Given the description of an element on the screen output the (x, y) to click on. 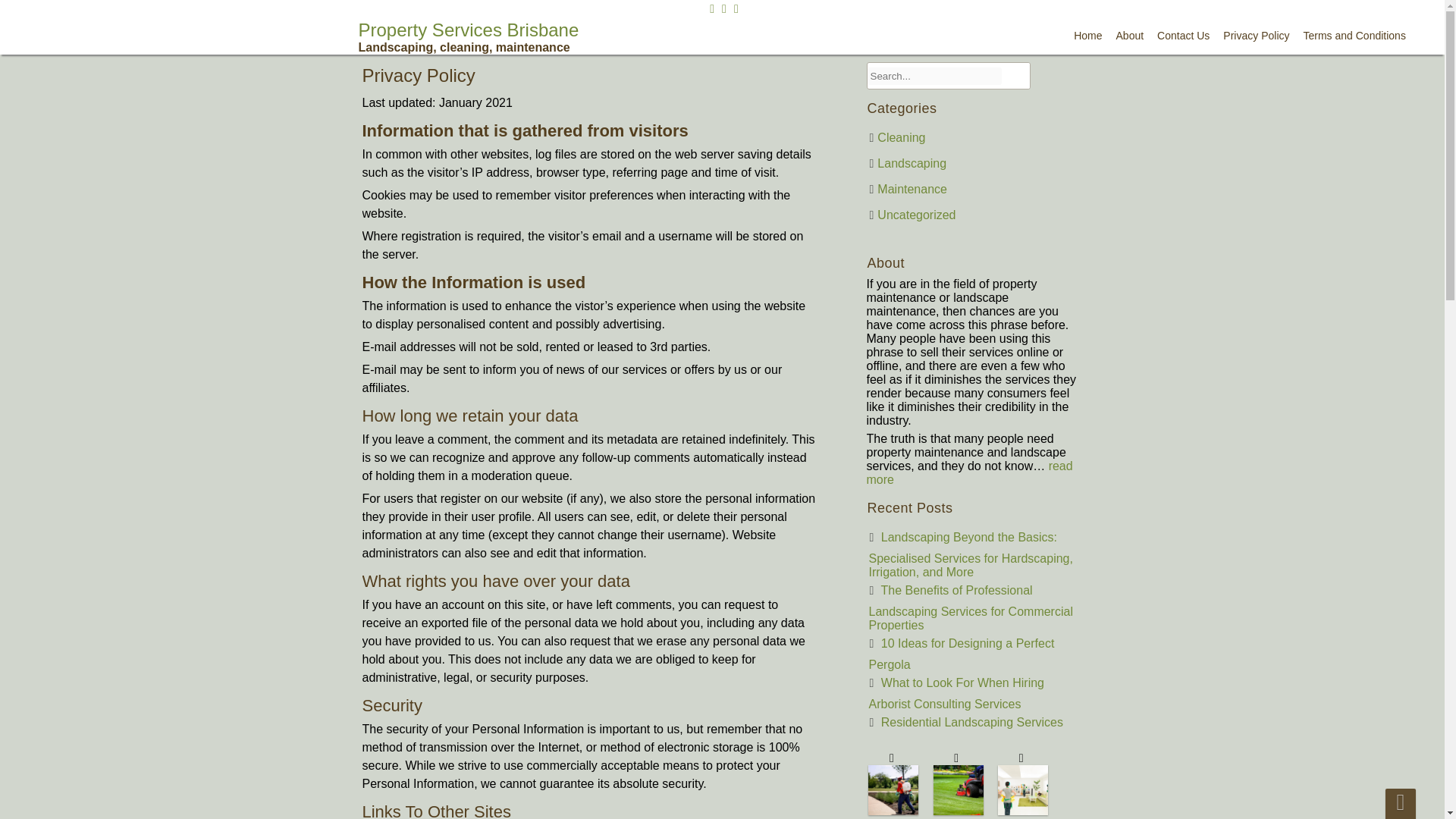
Property Services Brisbane (468, 36)
Uncategorized (916, 214)
Maintenance (912, 188)
Terms and Conditions (1354, 35)
Cleaning (900, 137)
Contact Us (1182, 35)
About (1130, 35)
10 Ideas for Designing a Perfect Pergola (961, 653)
Home (1087, 35)
